Given the description of an element on the screen output the (x, y) to click on. 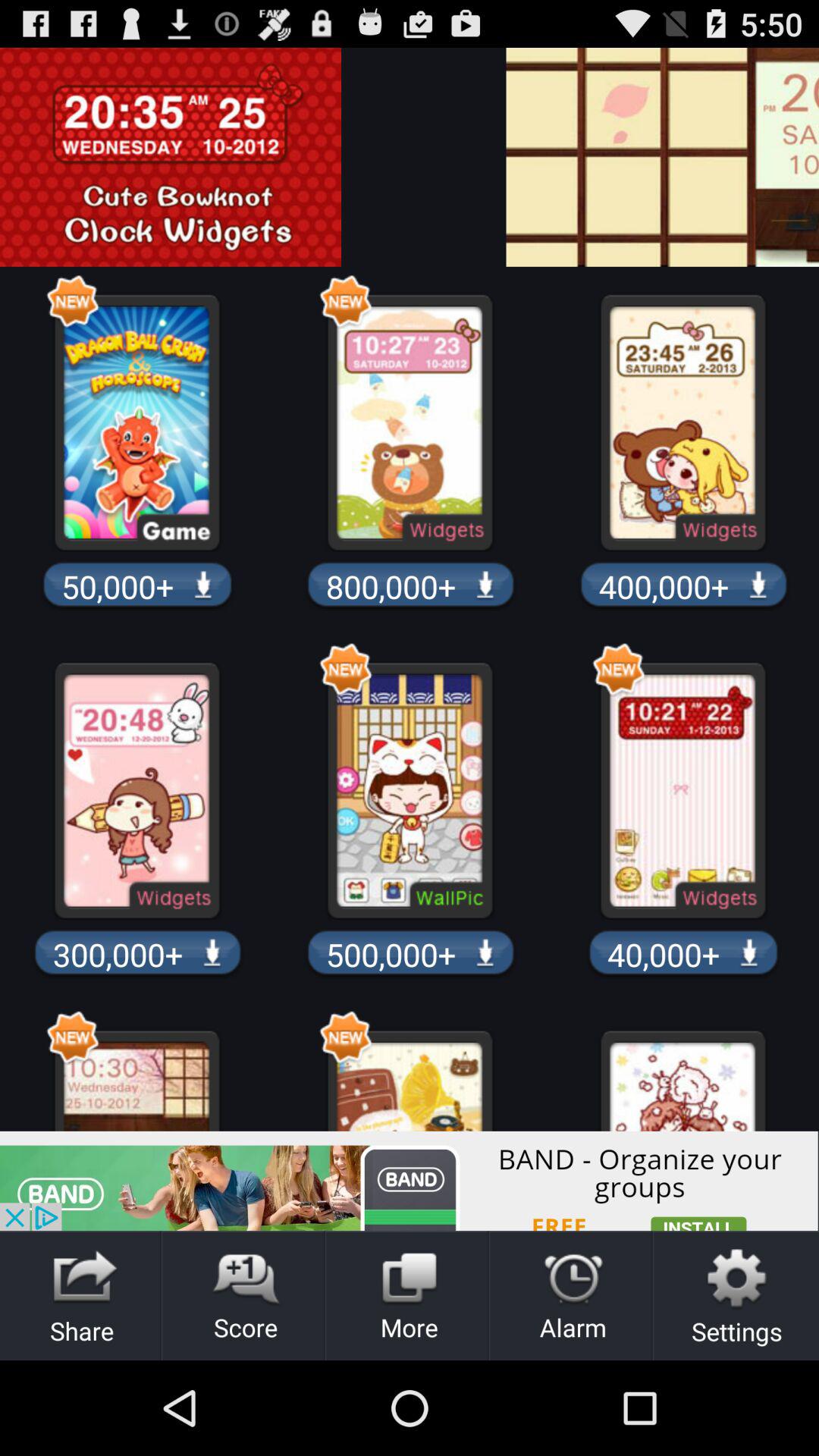
advertisement (409, 1180)
